Given the description of an element on the screen output the (x, y) to click on. 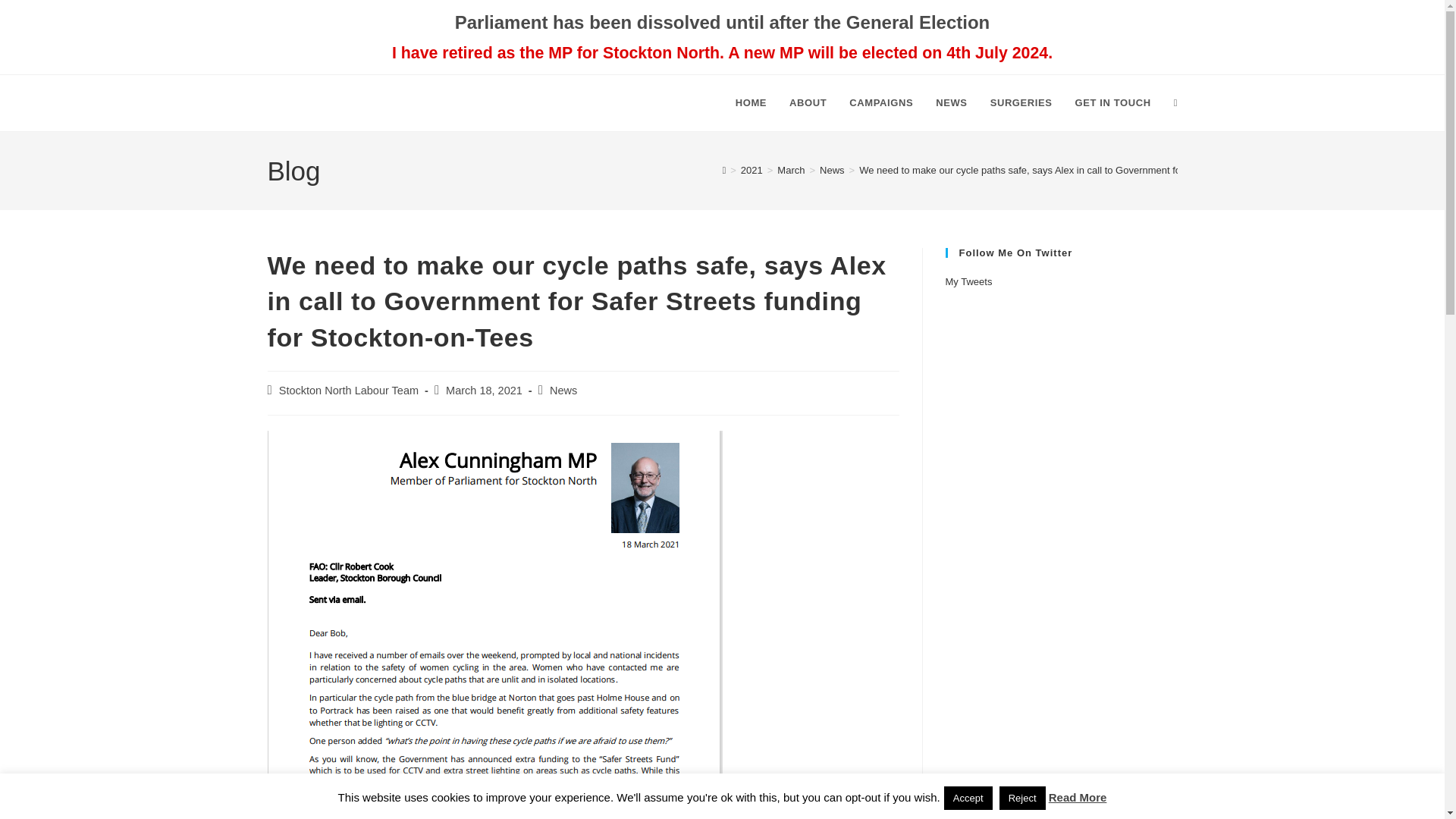
News (831, 170)
NEWS (951, 103)
2021 (751, 170)
GET IN TOUCH (1112, 103)
HOME (750, 103)
News (563, 390)
March (791, 170)
Alex Cunningham MP (374, 102)
Stockton North Labour Team (349, 390)
Posts by Stockton North Labour Team (349, 390)
My Tweets (967, 281)
SURGERIES (1021, 103)
CAMPAIGNS (881, 103)
ABOUT (807, 103)
